Given the description of an element on the screen output the (x, y) to click on. 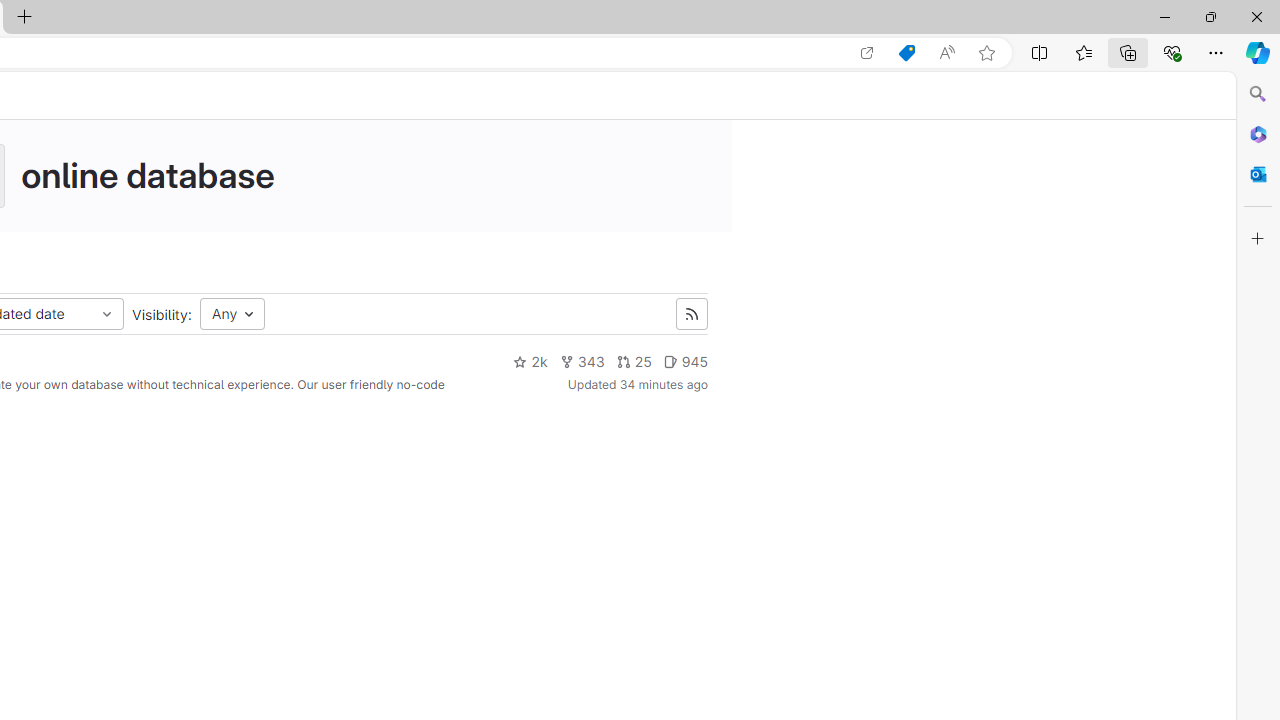
Any (232, 314)
945 (685, 361)
2k (530, 361)
